Given the description of an element on the screen output the (x, y) to click on. 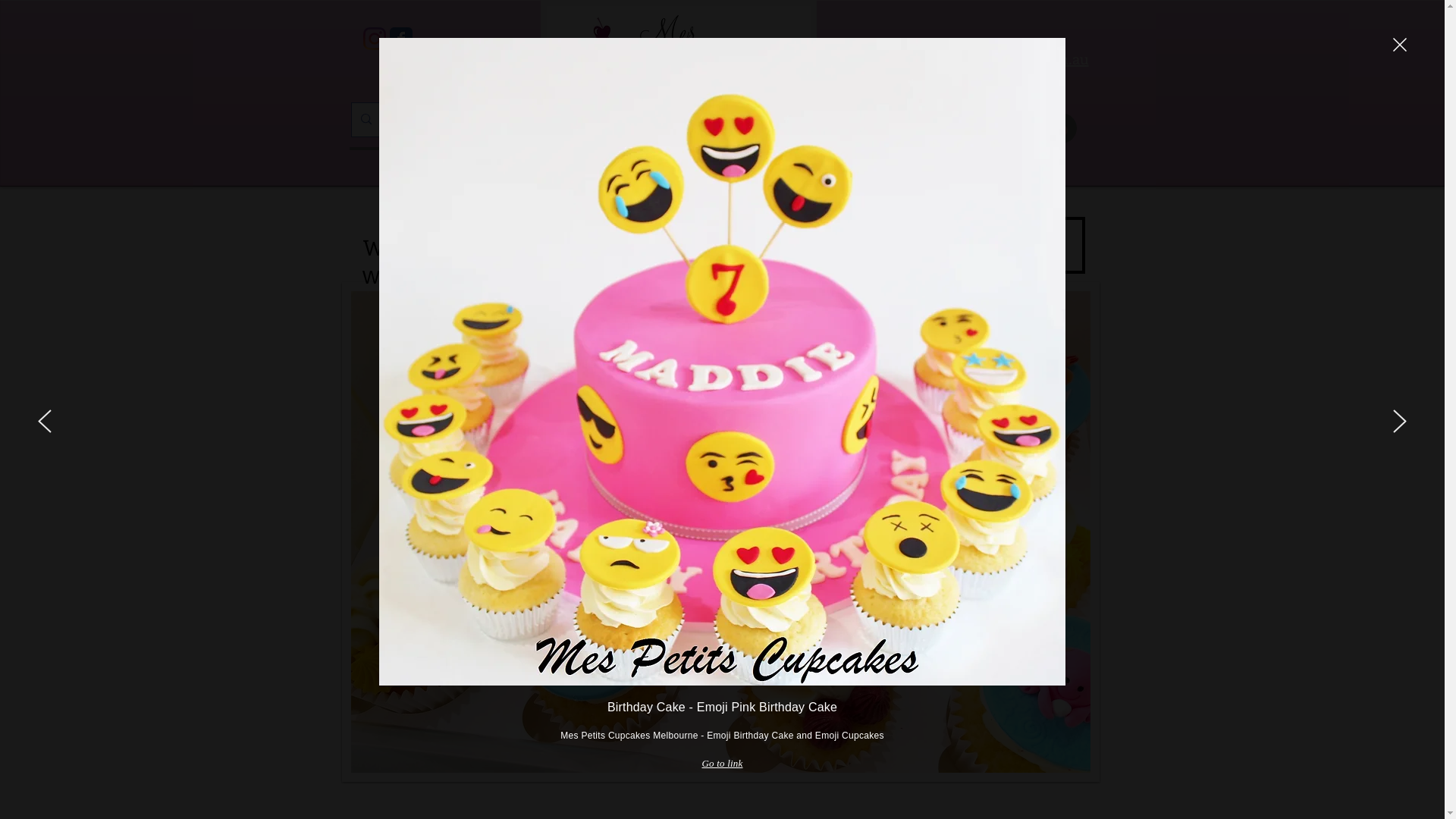
ORDER Element type: text (1026, 164)
SWEET TREATS Element type: text (875, 164)
CUPCAKES Element type: text (722, 164)
Mes+Petits+Cupcakes+-+Logo+shorten.jpg Element type: hover (677, 66)
Go to link Element type: text (722, 763)
CAKES Element type: text (570, 164)
CONTACT US Element type: text (993, 244)
0 Element type: text (1039, 127)
info@mespetitscupcakes.com.au Element type: text (977, 57)
HOME Element type: text (417, 164)
